Given the description of an element on the screen output the (x, y) to click on. 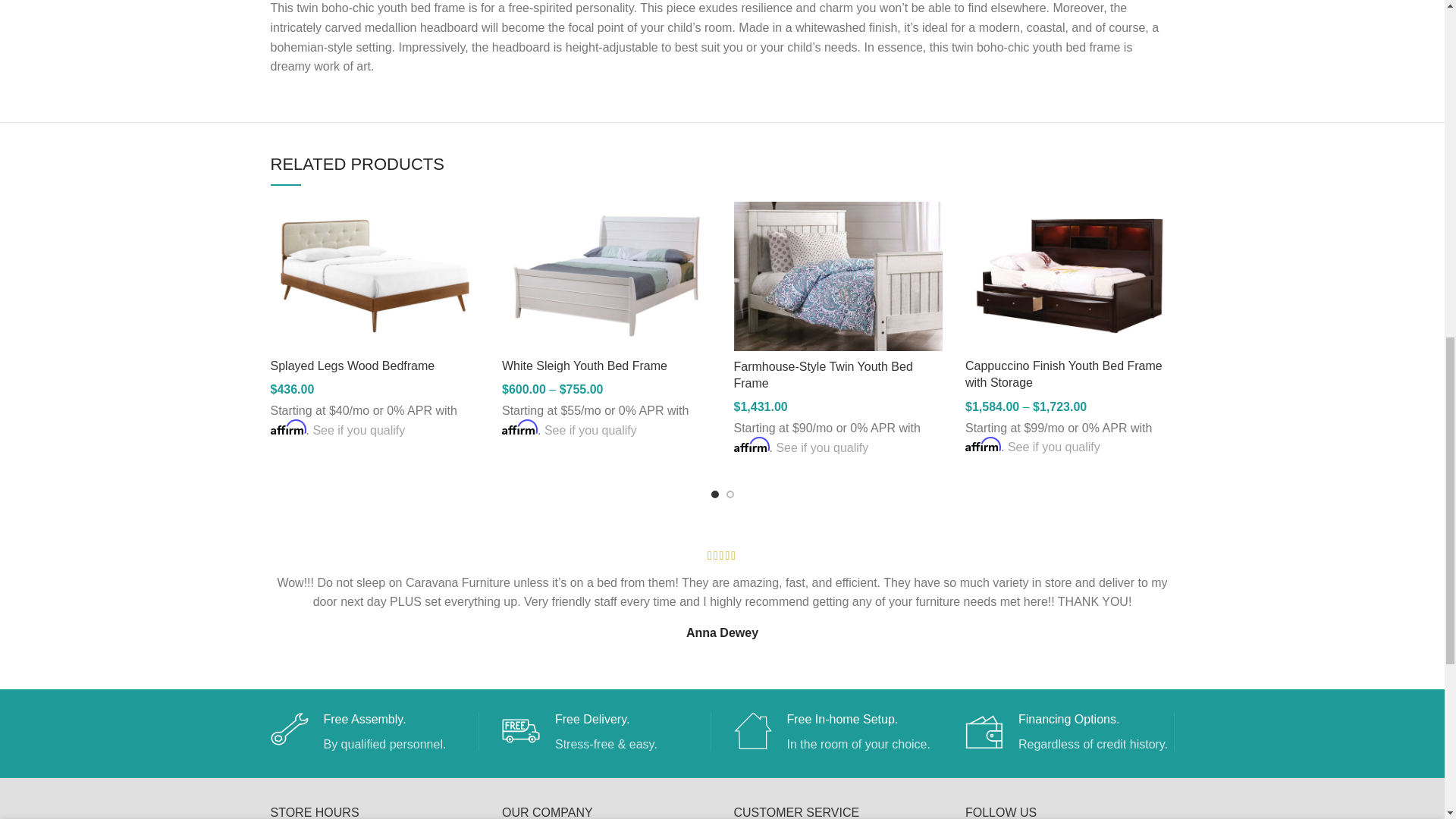
1 (954, 35)
- (933, 35)
